Given the description of an element on the screen output the (x, y) to click on. 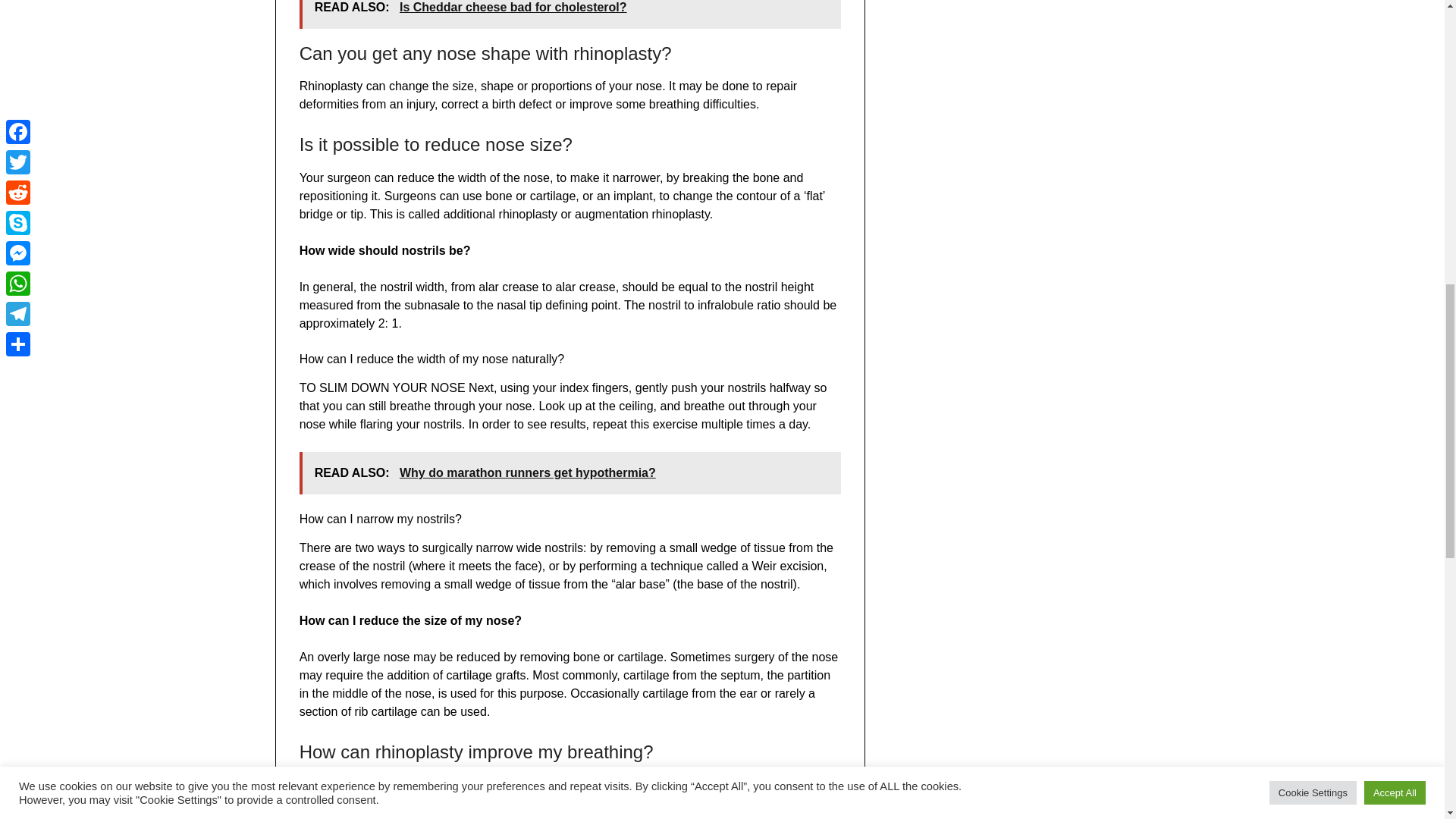
READ ALSO:   Why do marathon runners get hypothermia? (570, 473)
READ ALSO:   Is Cheddar cheese bad for cholesterol? (570, 14)
